Given the description of an element on the screen output the (x, y) to click on. 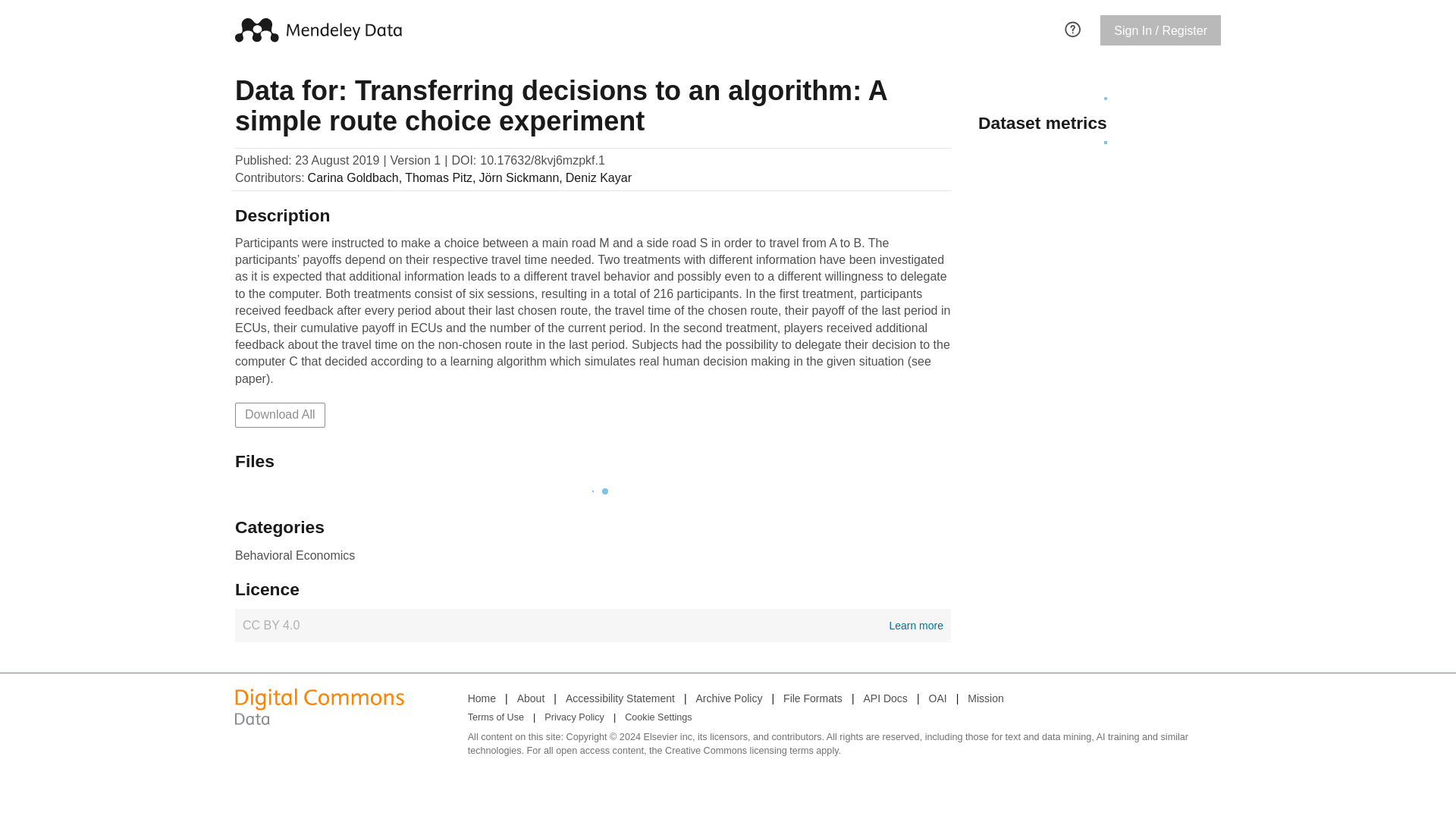
FAQ (1072, 27)
Cookie Settings (657, 718)
Home (481, 698)
Mission (985, 698)
About (530, 698)
Privacy Policy (574, 718)
Accessibility Statement (620, 698)
Terms of Use (495, 718)
OAI (937, 698)
File Formats (813, 698)
